Given the description of an element on the screen output the (x, y) to click on. 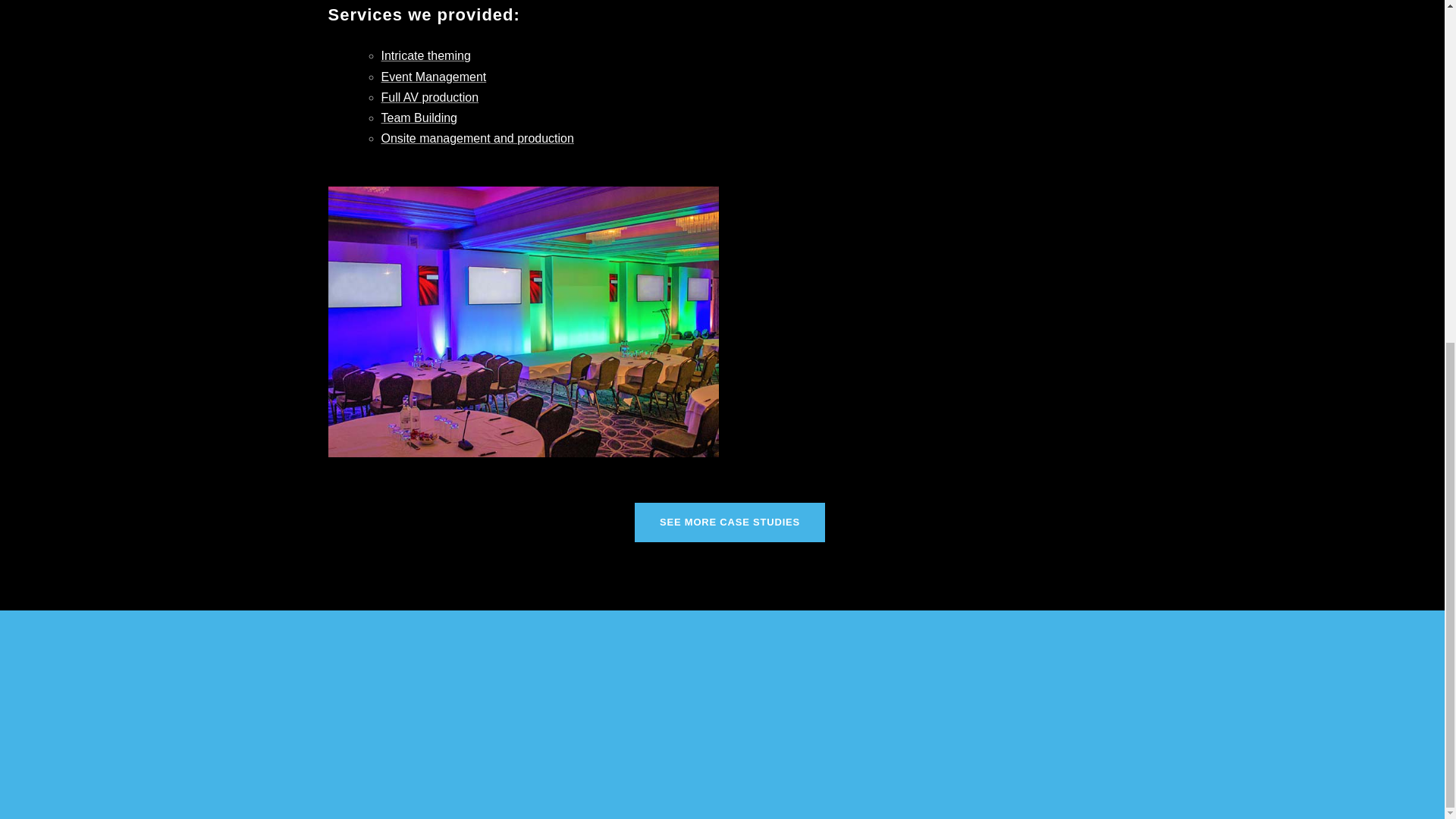
Team Building (418, 117)
SEE MORE CASE STUDIES (729, 522)
Onsite management and production (476, 137)
headstart-events-case-study-cystal-conference (522, 321)
Intricate theming (425, 55)
Event Management (433, 76)
Full AV production (429, 97)
